Given the description of an element on the screen output the (x, y) to click on. 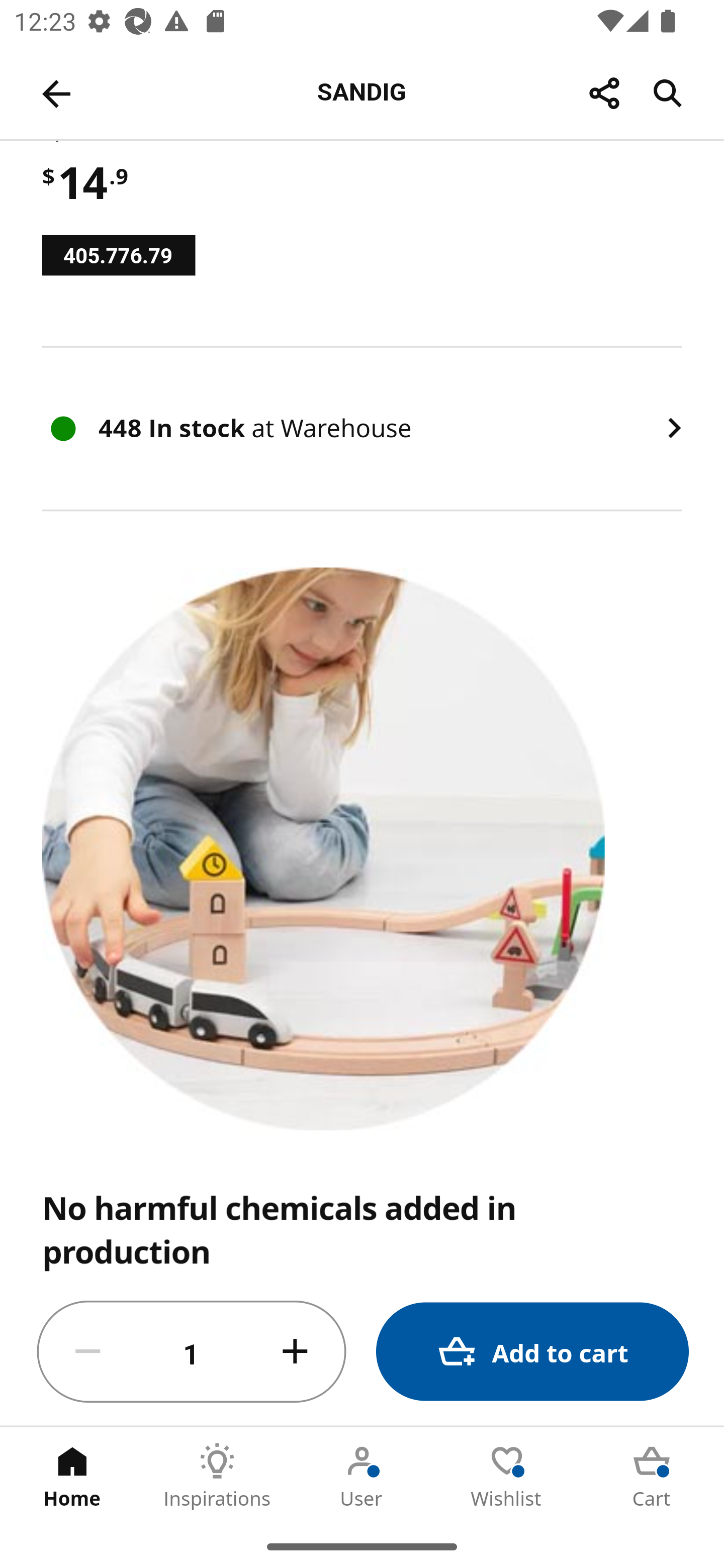
448 In stock at Warehouse (361, 428)
Add to cart (531, 1352)
1 (191, 1352)
Home
Tab 1 of 5 (72, 1476)
Inspirations
Tab 2 of 5 (216, 1476)
User
Tab 3 of 5 (361, 1476)
Wishlist
Tab 4 of 5 (506, 1476)
Cart
Tab 5 of 5 (651, 1476)
